Given the description of an element on the screen output the (x, y) to click on. 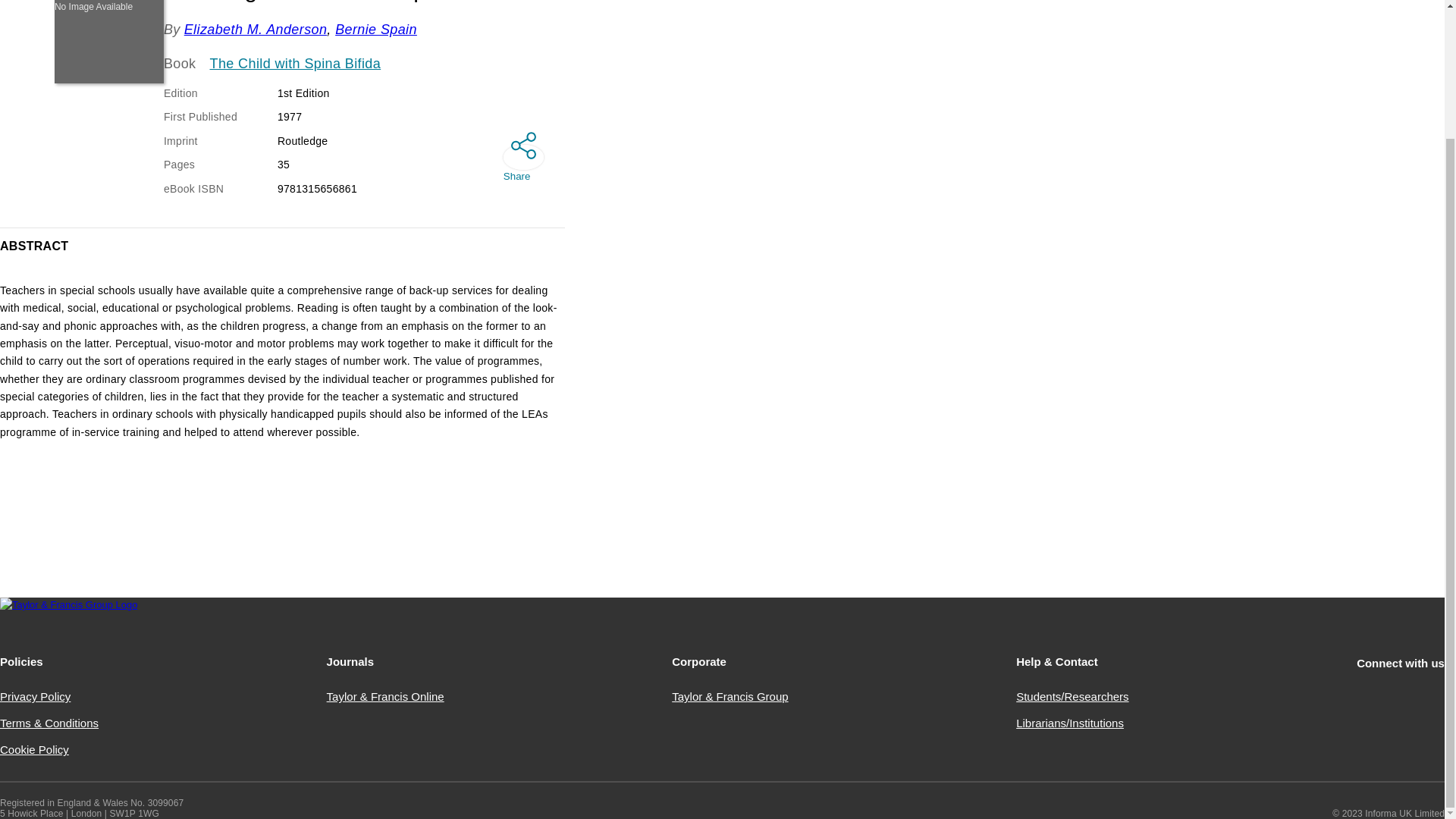
Share (517, 155)
The Child with Spina Bifida (295, 64)
Privacy Policy (34, 696)
Cookie Policy (34, 749)
Bernie Spain (375, 29)
Elizabeth M. Anderson (255, 29)
